Given the description of an element on the screen output the (x, y) to click on. 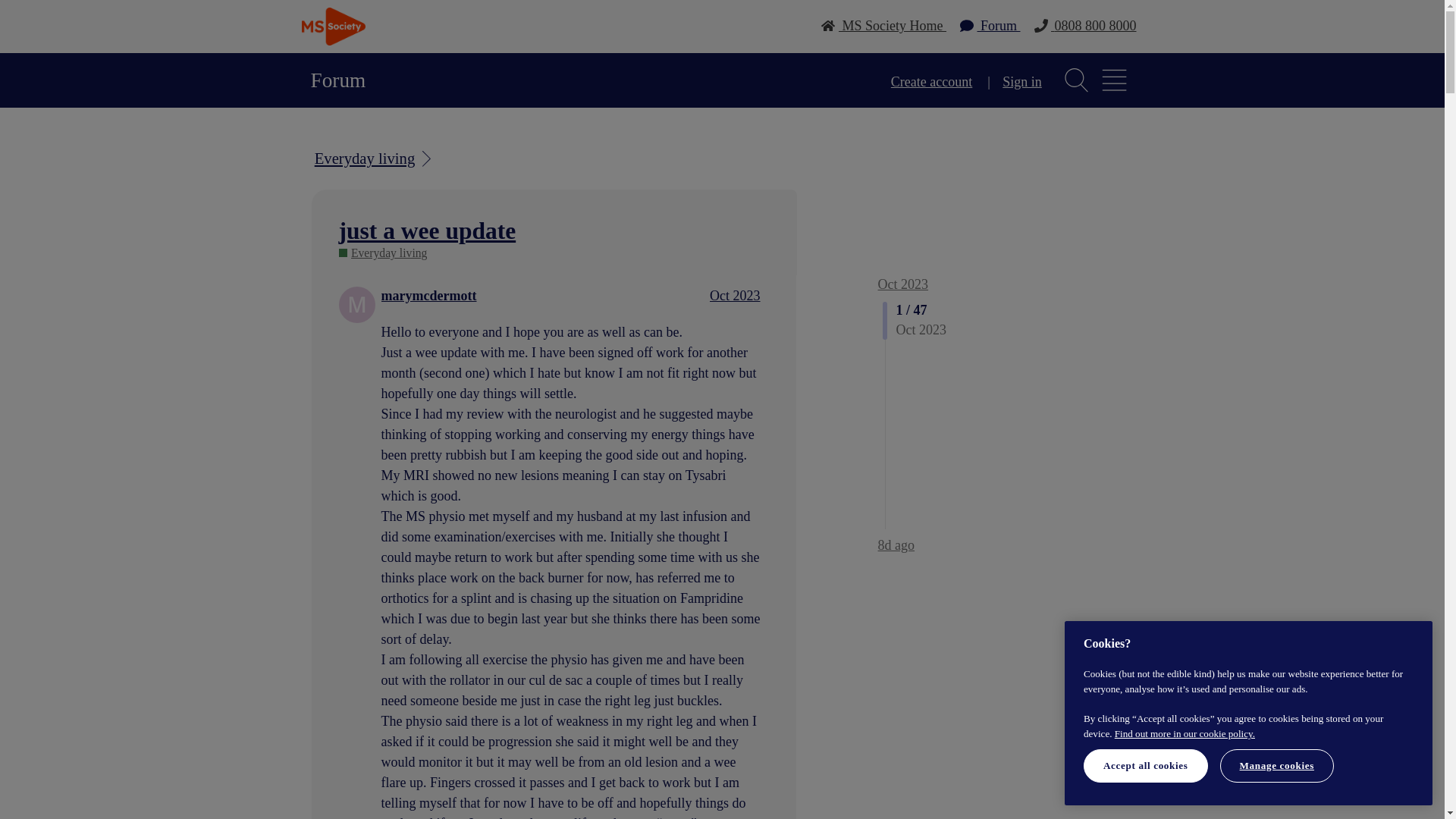
Forum (990, 25)
marymcdermott (429, 295)
Create account (930, 81)
menu (1115, 80)
Everyday living (383, 252)
Search (1076, 80)
MS Society Home (883, 25)
Jump to the last post (896, 544)
Forum (338, 80)
Oct 2023 (735, 295)
Post date (735, 295)
Everyday living (375, 158)
Jump to the first post (902, 283)
just a wee update (427, 230)
0808 800 8000 (1084, 25)
